Given the description of an element on the screen output the (x, y) to click on. 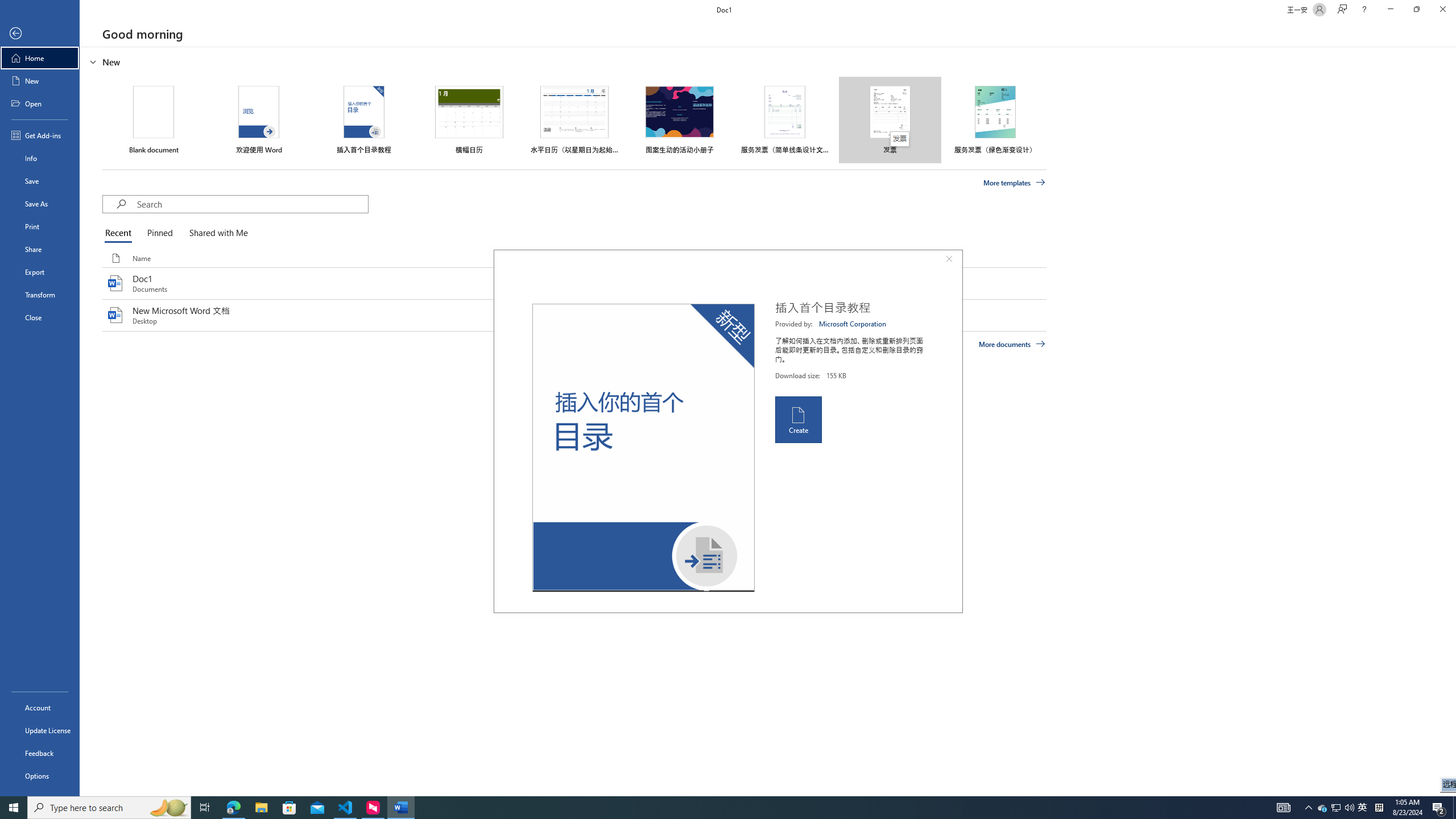
Recent (119, 233)
Get Add-ins (40, 134)
Class: NetUIScrollBar (1450, 421)
Options (40, 775)
Info (40, 157)
Blank document (153, 119)
Account (40, 707)
Create (797, 419)
Print (40, 225)
